Given the description of an element on the screen output the (x, y) to click on. 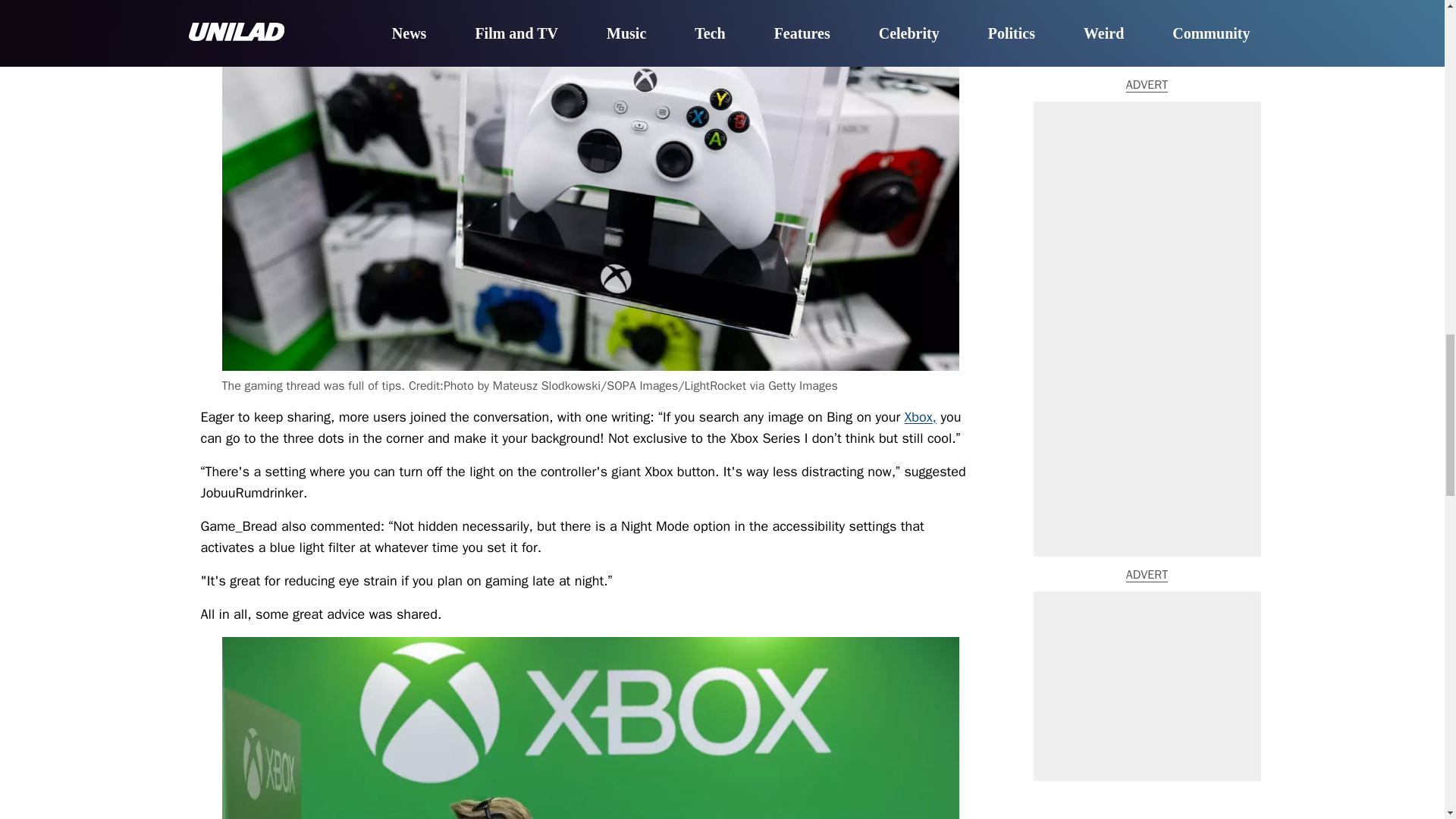
Xbox, (920, 416)
